Given the description of an element on the screen output the (x, y) to click on. 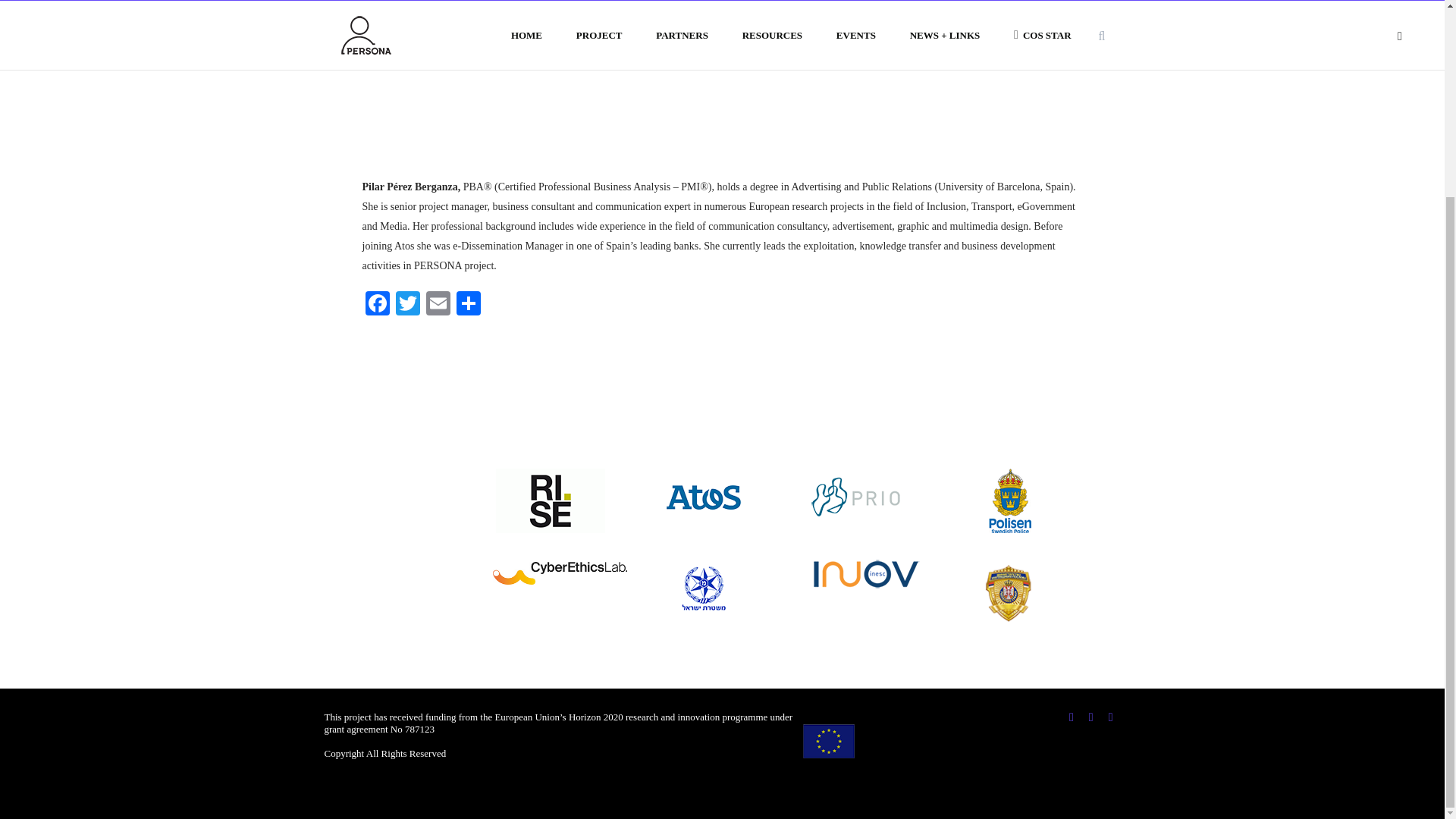
Email (437, 305)
PERSONA (829, 741)
Facebook (377, 305)
Twitter (408, 305)
